Given the description of an element on the screen output the (x, y) to click on. 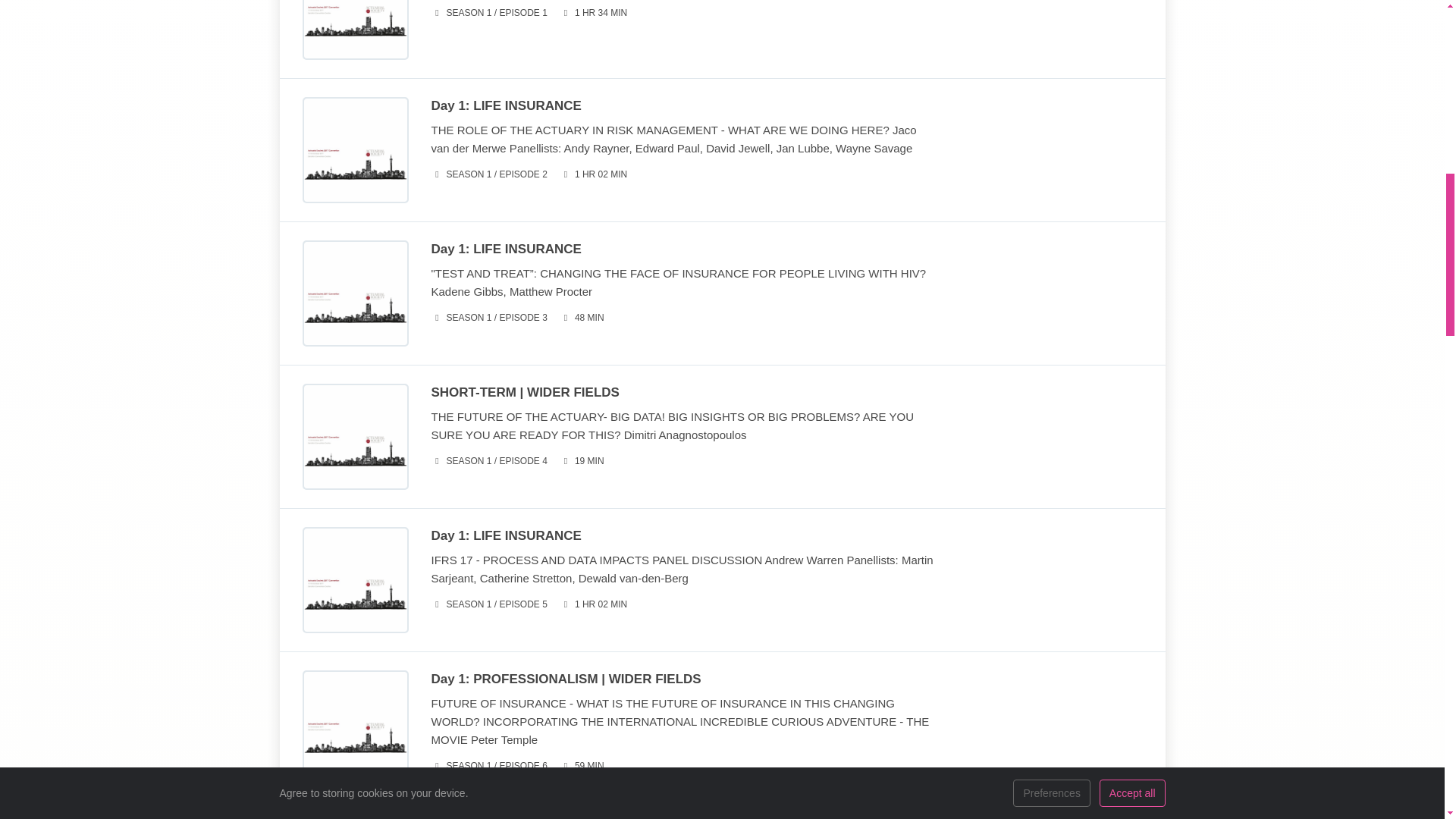
Duration (593, 12)
Duration (581, 765)
Duration (593, 174)
Episode number (488, 174)
Episode number (488, 12)
Duration (581, 461)
Episode number (488, 461)
Episode number (488, 317)
Duration (581, 317)
Duration (593, 604)
Episode number (488, 765)
Episode number (488, 604)
